Given the description of an element on the screen output the (x, y) to click on. 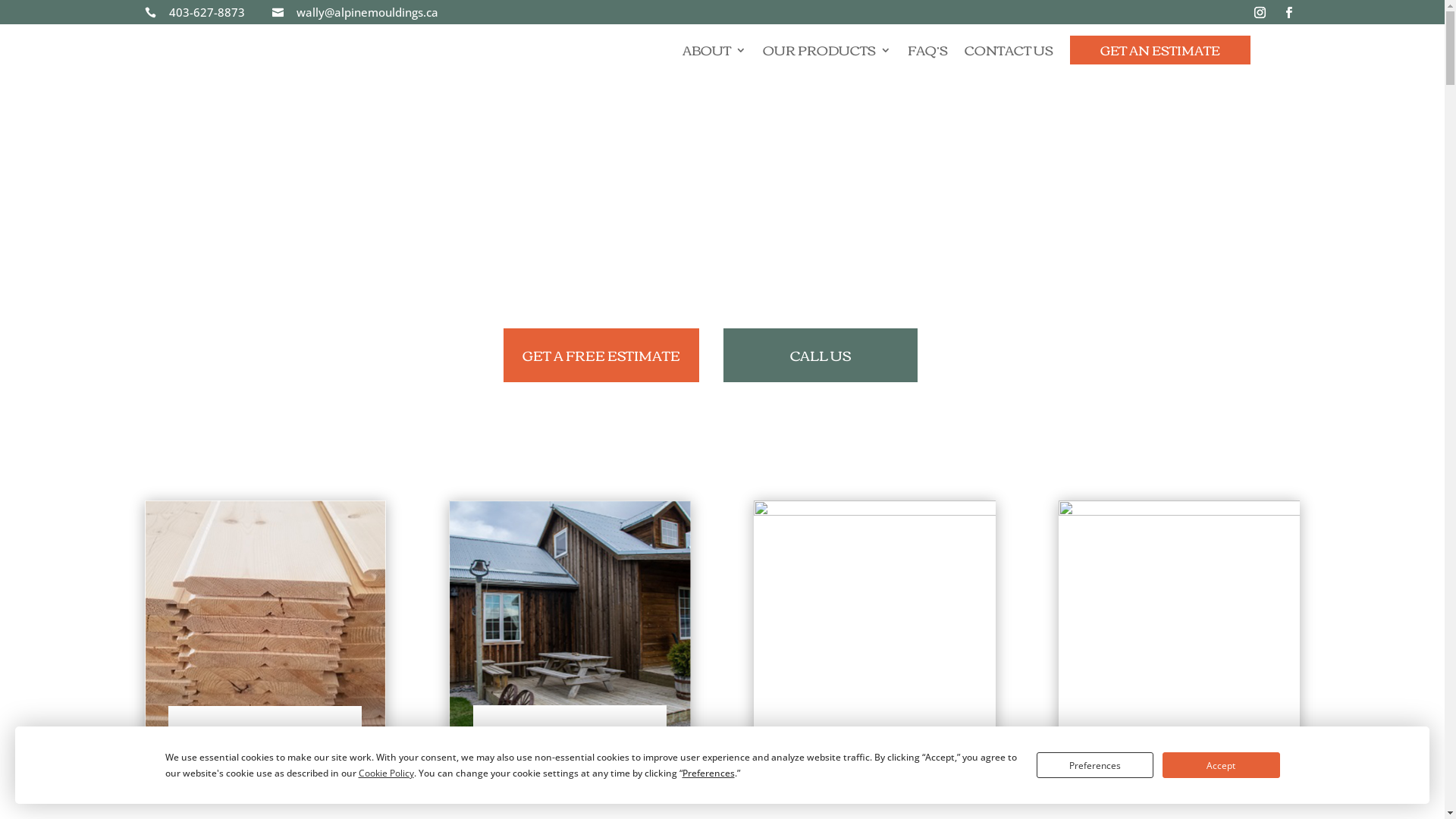
Preferences Element type: text (1094, 765)
OUR PRODUCTS Element type: text (826, 52)
View Products Element type: text (570, 765)
View Products Element type: text (1179, 766)
ABOUT Element type: text (714, 52)
CONTACT US Element type: text (1008, 52)
Follow on Instagram Element type: hover (1259, 12)
View Products Element type: text (265, 766)
View Products Element type: text (874, 765)
GET A FREE ESTIMATE Element type: text (601, 355)
GET AN ESTIMATE Element type: text (1160, 49)
Follow on Facebook Element type: hover (1288, 12)
Accept Element type: text (1220, 765)
Siding Element type: hover (569, 620)
CALL US Element type: text (820, 355)
Mouldings Element type: hover (1178, 621)
Tongue & Groove_bg Element type: hover (264, 621)
Flooring Element type: hover (873, 620)
